Given the description of an element on the screen output the (x, y) to click on. 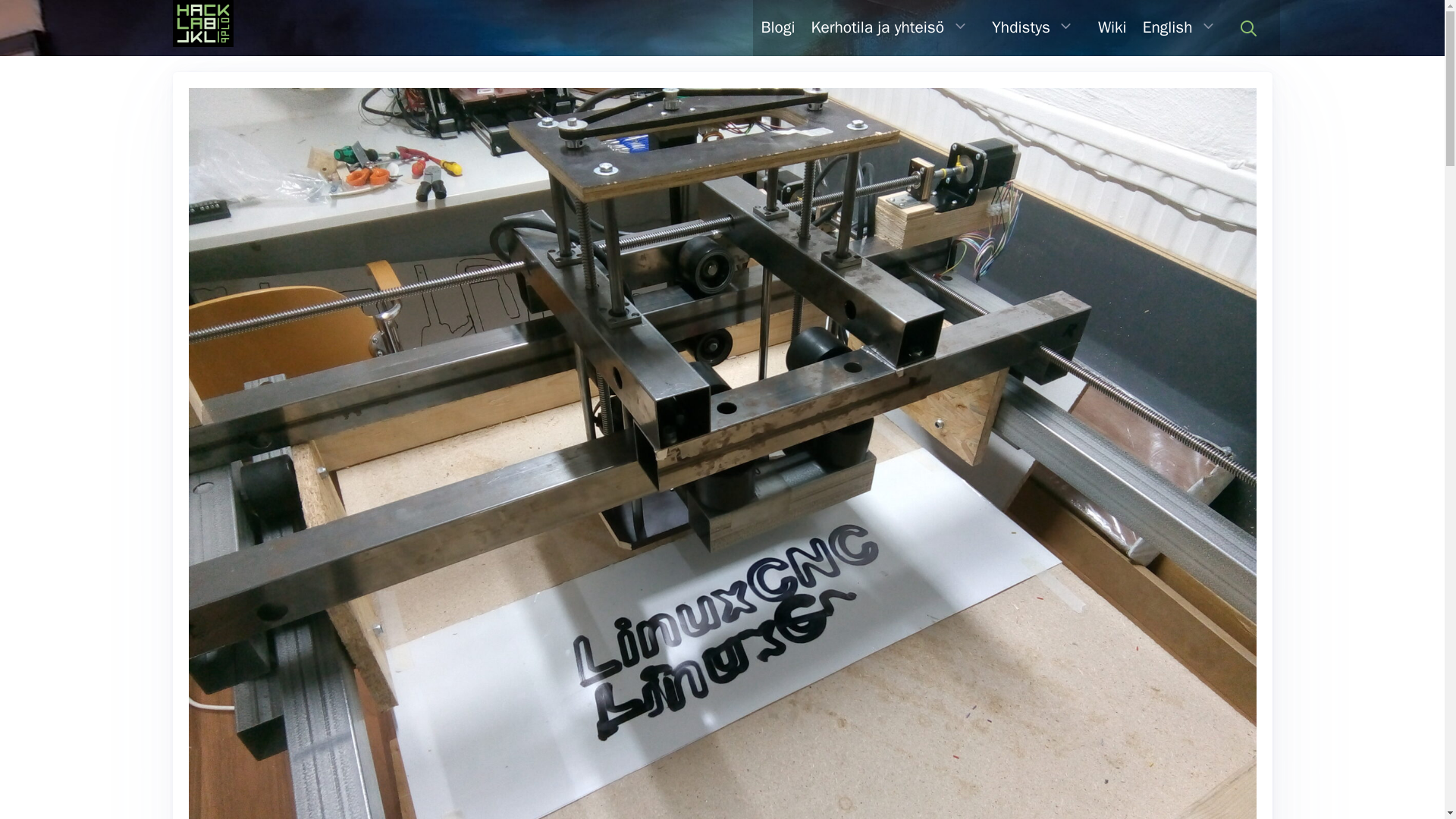
Yhdistys (1021, 27)
English (1166, 27)
Wiki (1111, 27)
Blogi (777, 27)
Home (202, 28)
